Given the description of an element on the screen output the (x, y) to click on. 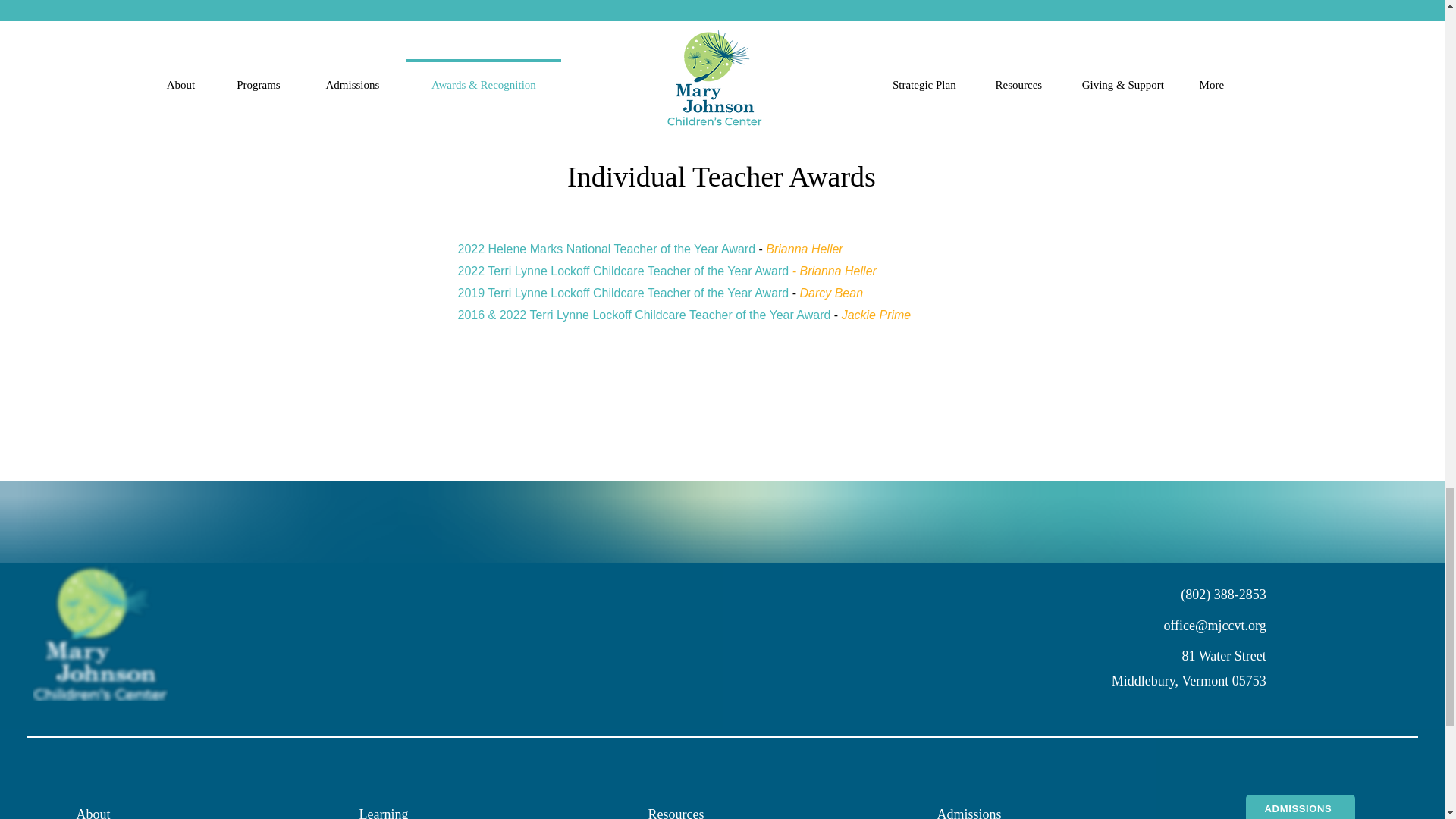
ADMISSIONS (1299, 806)
